Given the description of an element on the screen output the (x, y) to click on. 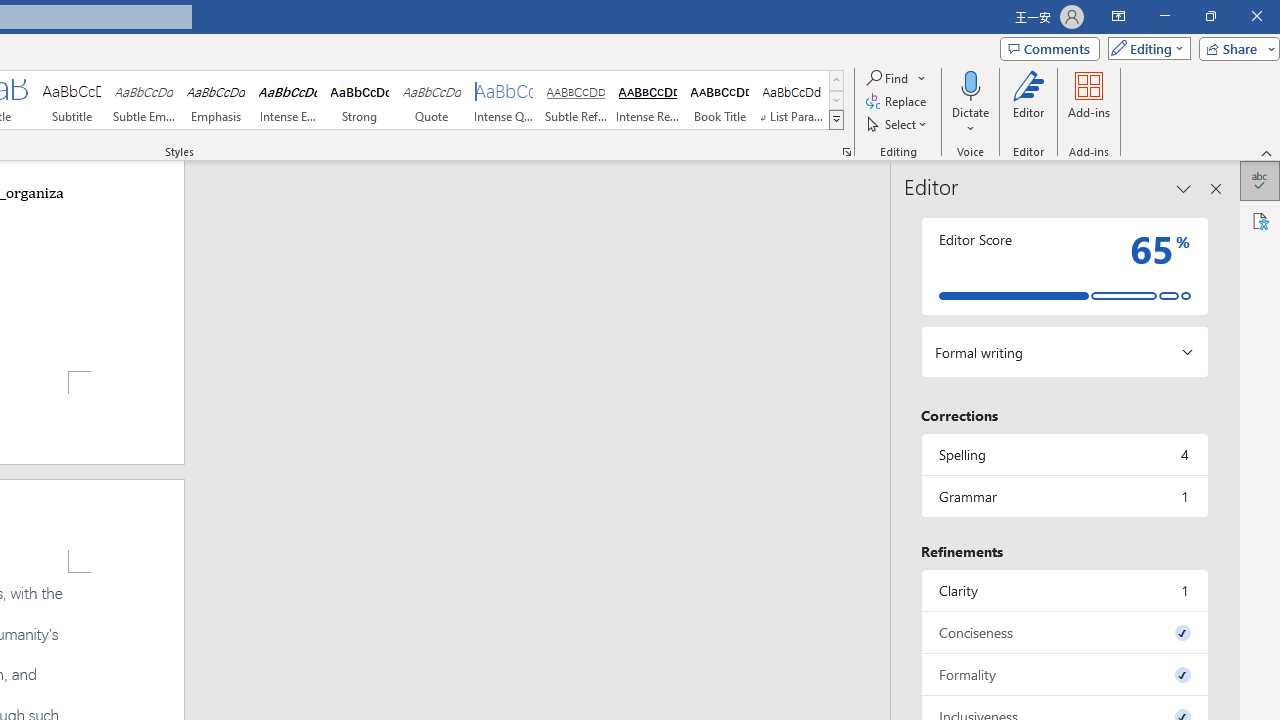
Row Down (836, 100)
Select (898, 124)
Row up (836, 79)
Dictate (970, 84)
Intense Reference (647, 100)
Dictate (970, 102)
Replace... (897, 101)
Grammar, 1 issue. Press space or enter to review items. (1064, 495)
Clarity, 1 issue. Press space or enter to review items. (1064, 590)
Find (896, 78)
Class: NetUIImage (836, 119)
Minimize (1164, 16)
Find (888, 78)
Task Pane Options (1183, 188)
